Given the description of an element on the screen output the (x, y) to click on. 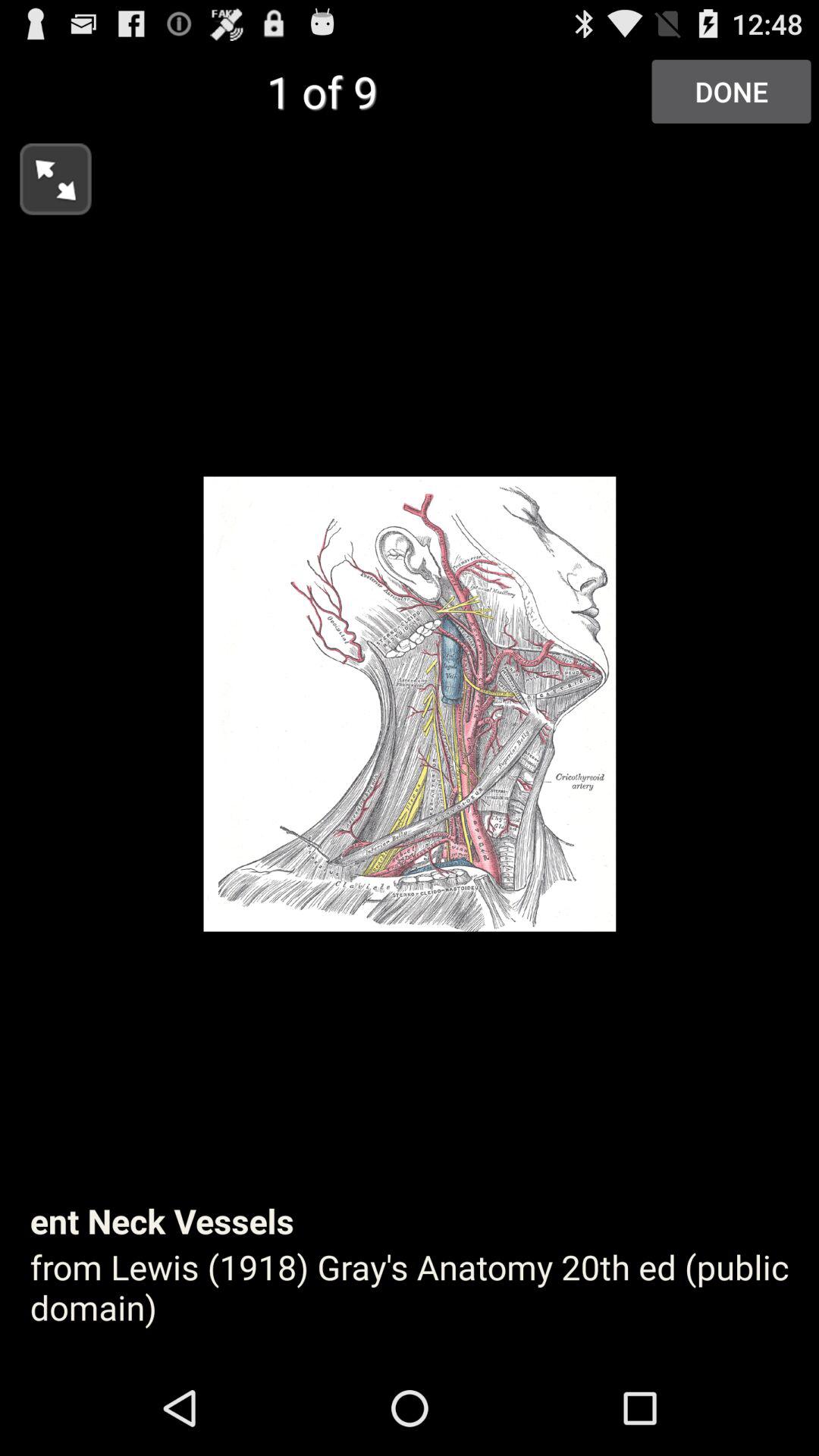
select icon above ent neck vessels (731, 91)
